Given the description of an element on the screen output the (x, y) to click on. 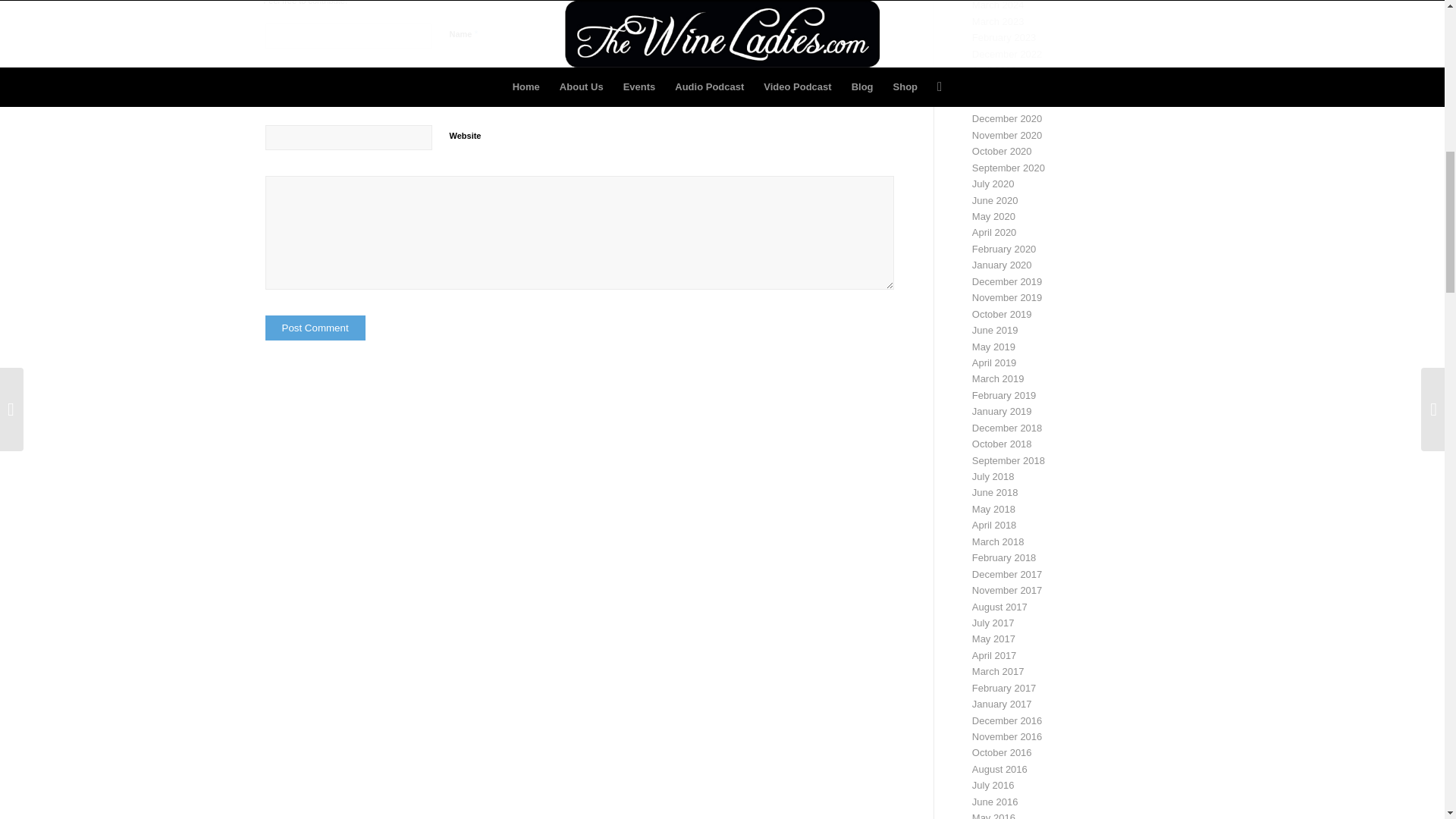
Post Comment (314, 327)
Post Comment (314, 327)
